Given the description of an element on the screen output the (x, y) to click on. 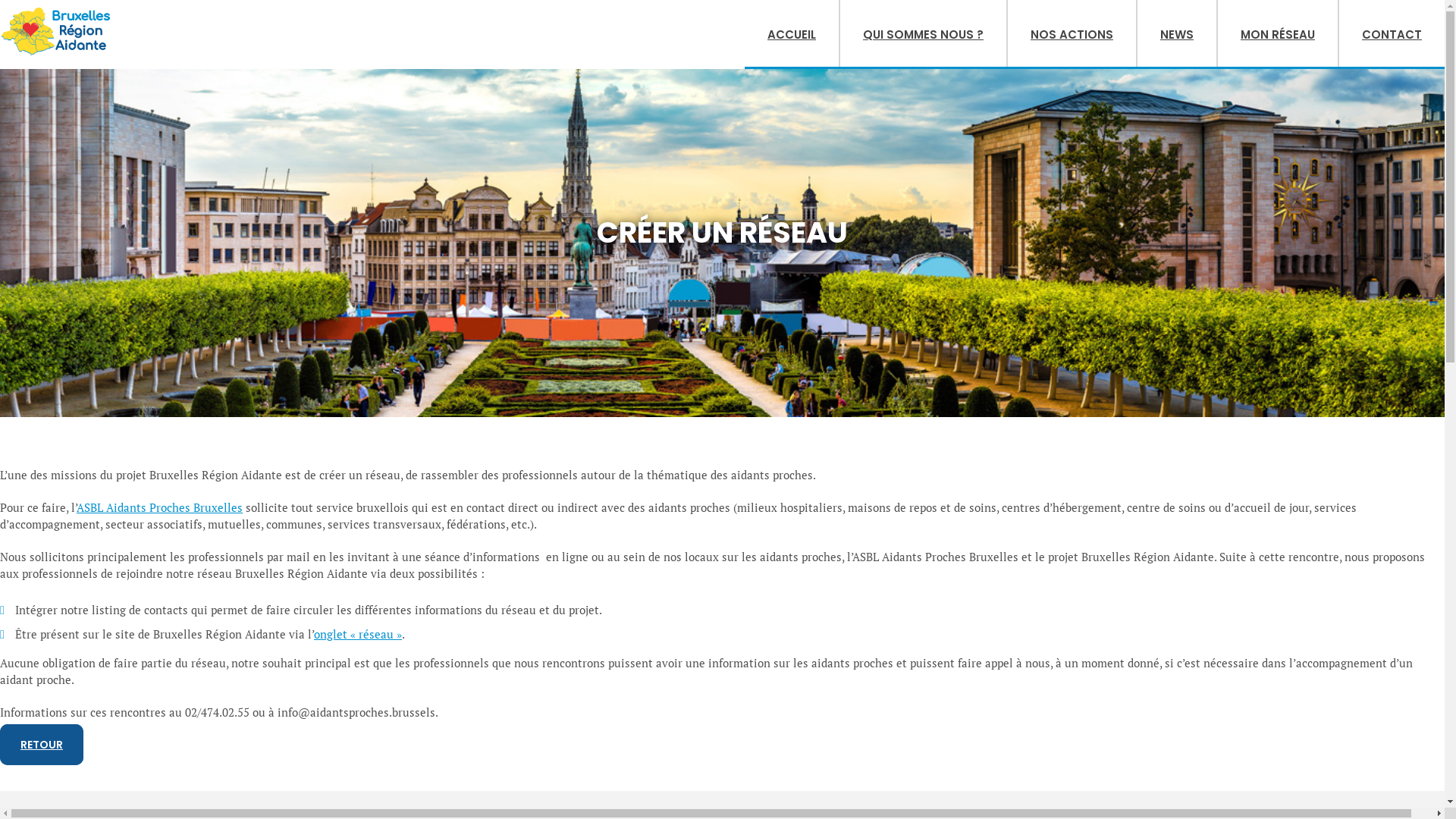
ACCUEIL Element type: text (791, 33)
RETOUR Element type: text (41, 744)
ASBL Aidants Proches Bruxelles Element type: text (159, 506)
NEWS Element type: text (1176, 33)
QUI SOMMES NOUS ? Element type: text (923, 33)
NOS ACTIONS Element type: text (1071, 33)
CONTACT Element type: text (1391, 33)
